Given the description of an element on the screen output the (x, y) to click on. 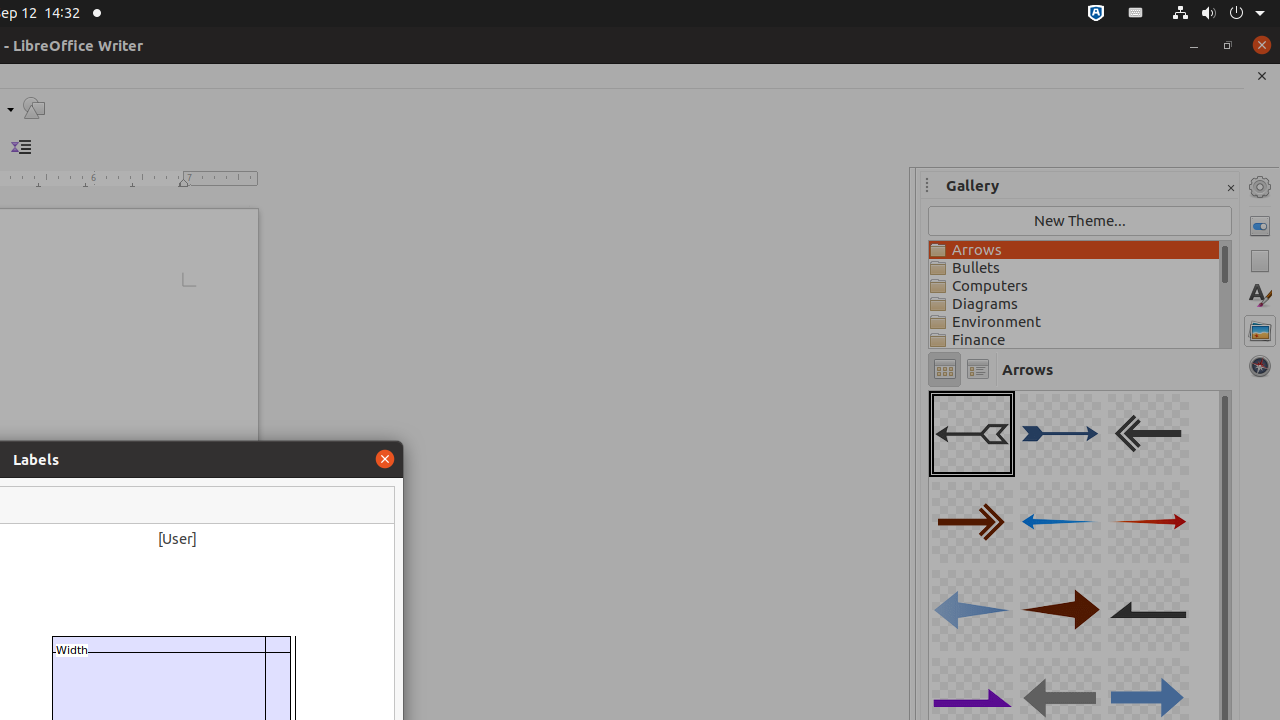
:1.21/StatusNotifierItem Element type: menu (1136, 13)
System Element type: menu (1218, 13)
:1.72/StatusNotifierItem Element type: menu (1096, 13)
